Given the description of an element on the screen output the (x, y) to click on. 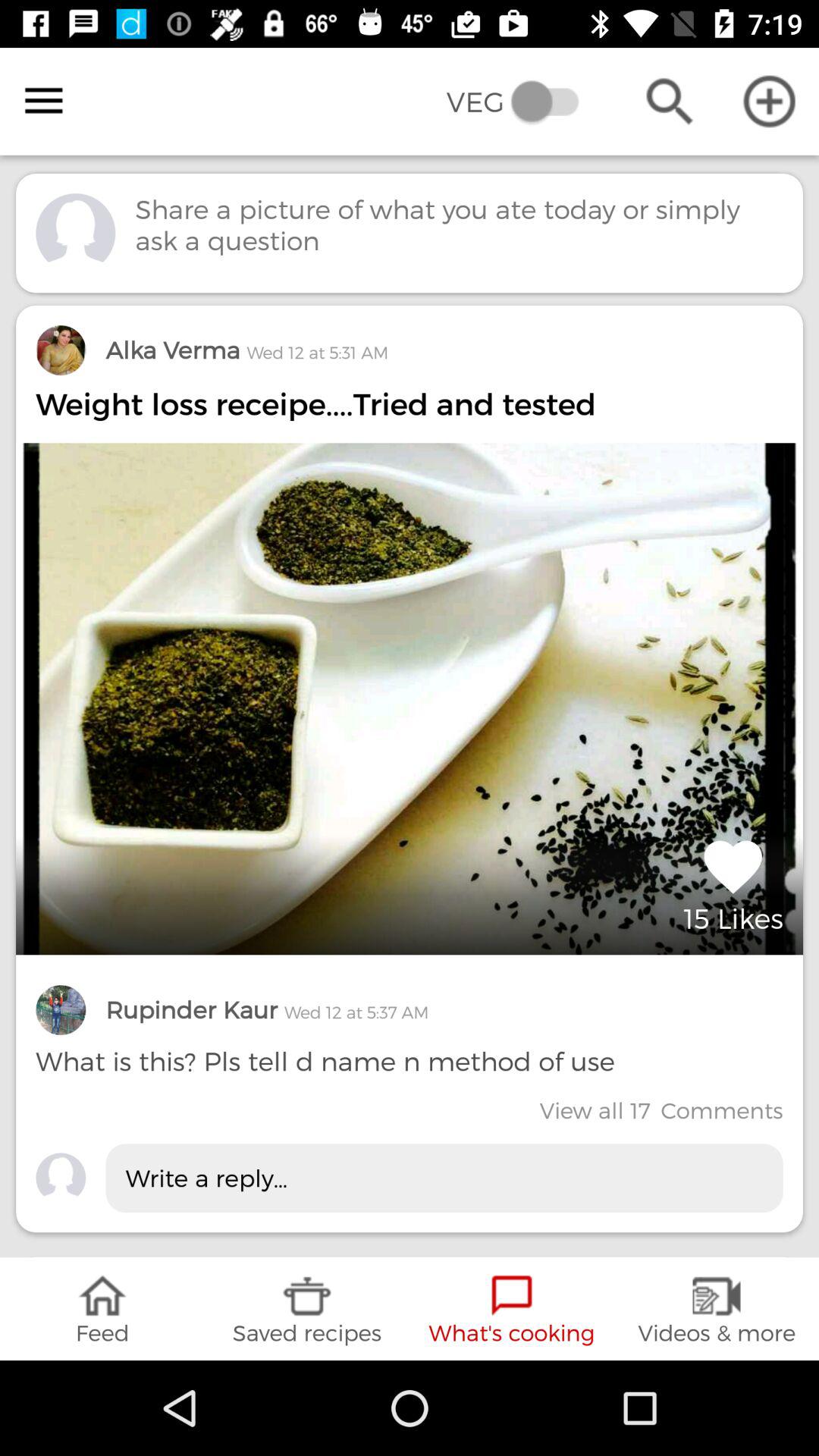
turn off icon next to videos & more item (511, 1308)
